Given the description of an element on the screen output the (x, y) to click on. 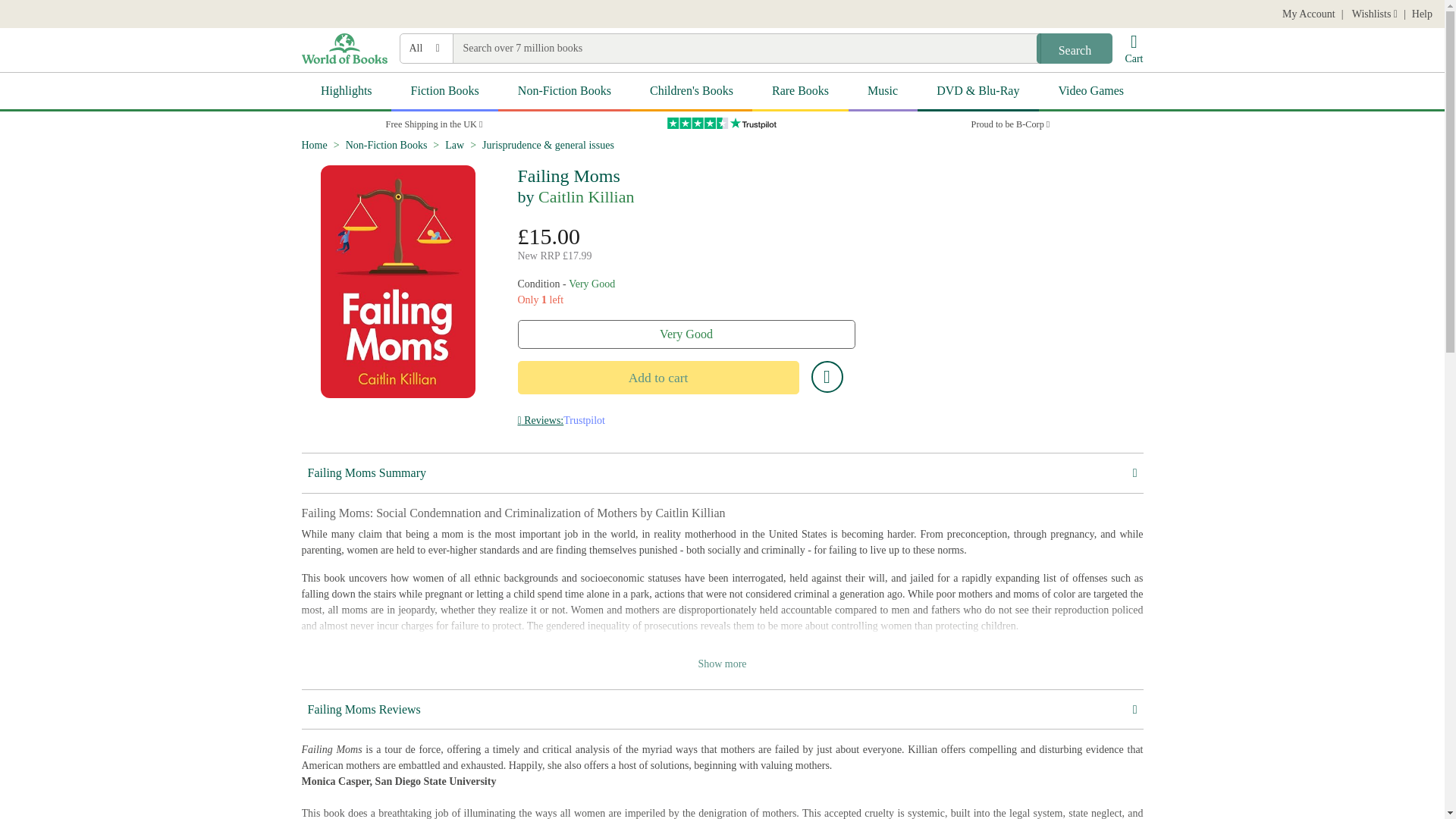
Help (1422, 13)
Search (1074, 48)
Show more (721, 663)
Wishlists (1373, 13)
Information (539, 420)
Music (882, 91)
Trustpilot (584, 419)
Very Good (685, 334)
Children's Books (691, 91)
Non-Fiction Books (563, 91)
